Given the description of an element on the screen output the (x, y) to click on. 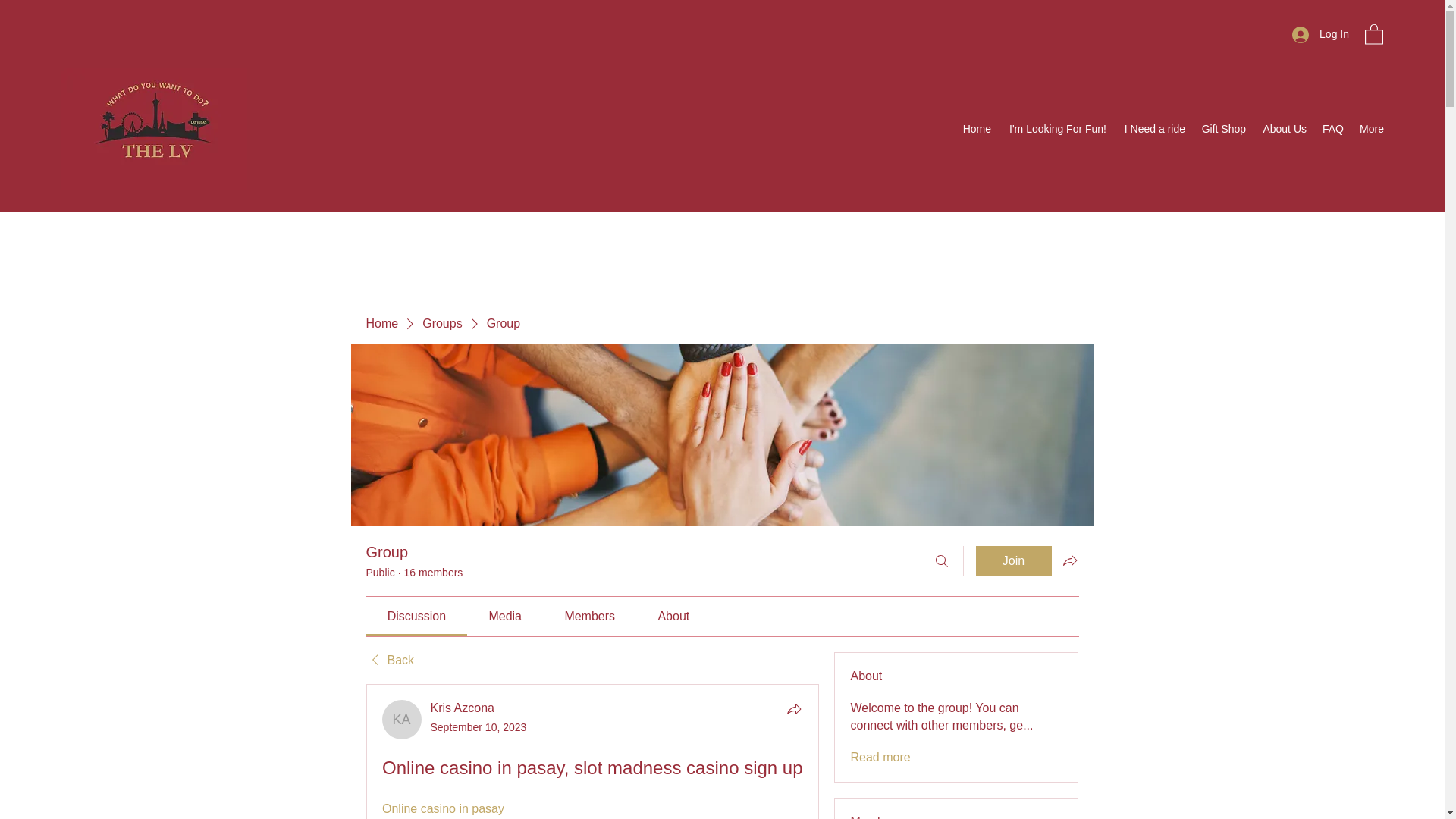
Back (389, 660)
Log In (1320, 34)
I'm Looking For Fun! (1055, 128)
Home (381, 323)
Kris Azcona (462, 707)
FAQ (1332, 128)
I Need a ride (1152, 128)
September 10, 2023 (478, 727)
About Us (1283, 128)
Join (1013, 561)
Home (976, 128)
Gift Shop (1222, 128)
Groups (441, 323)
Online casino in pasay (442, 808)
Kris Azcona (401, 719)
